Given the description of an element on the screen output the (x, y) to click on. 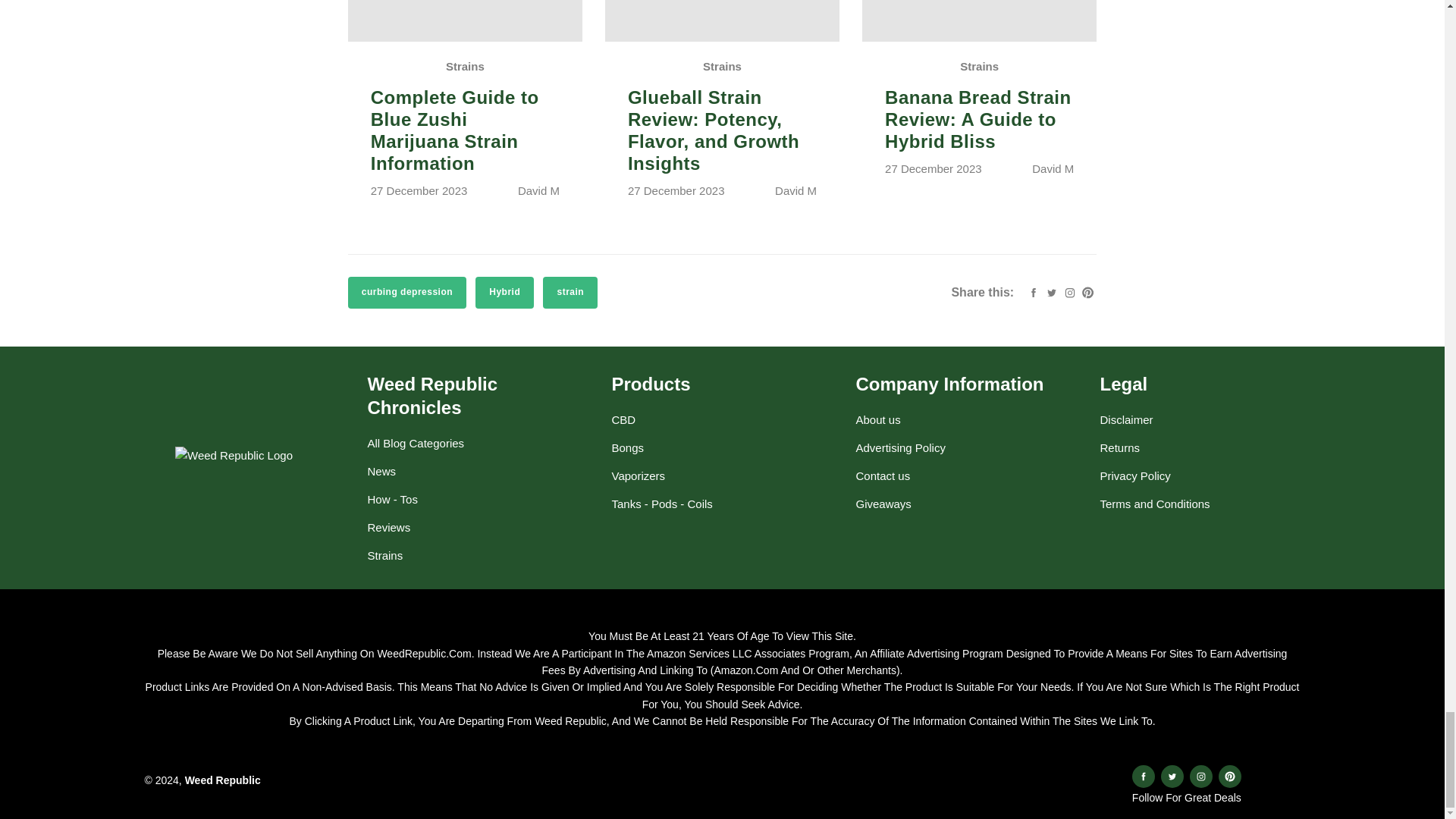
Narrow search to articles also having tag Hybrid (505, 292)
Narrow search to articles also having tag curbing depression (406, 292)
Home page (222, 779)
Narrow search to articles also having tag strain (569, 292)
